Given the description of an element on the screen output the (x, y) to click on. 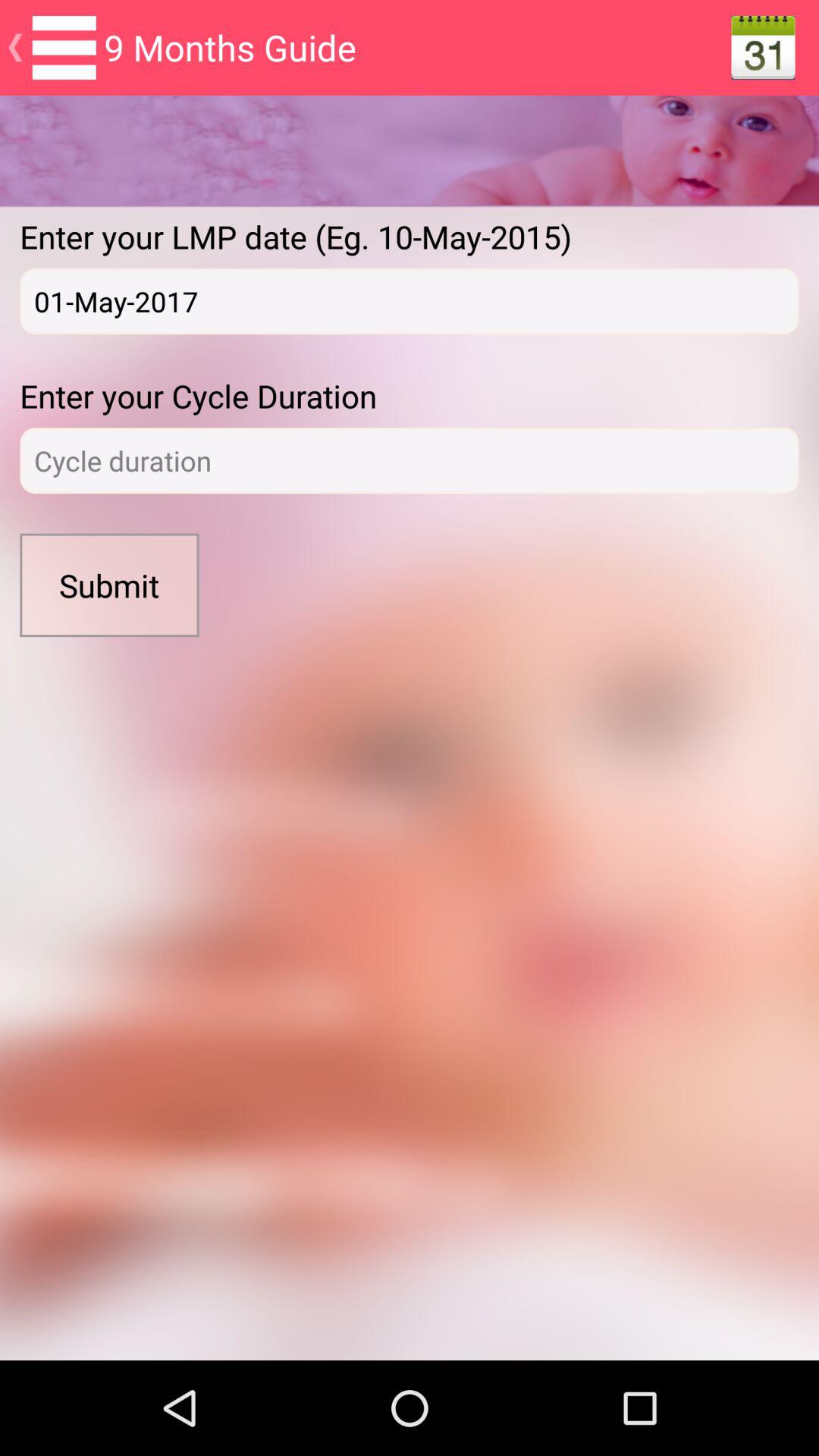
to enter datas about the cycle (409, 460)
